Given the description of an element on the screen output the (x, y) to click on. 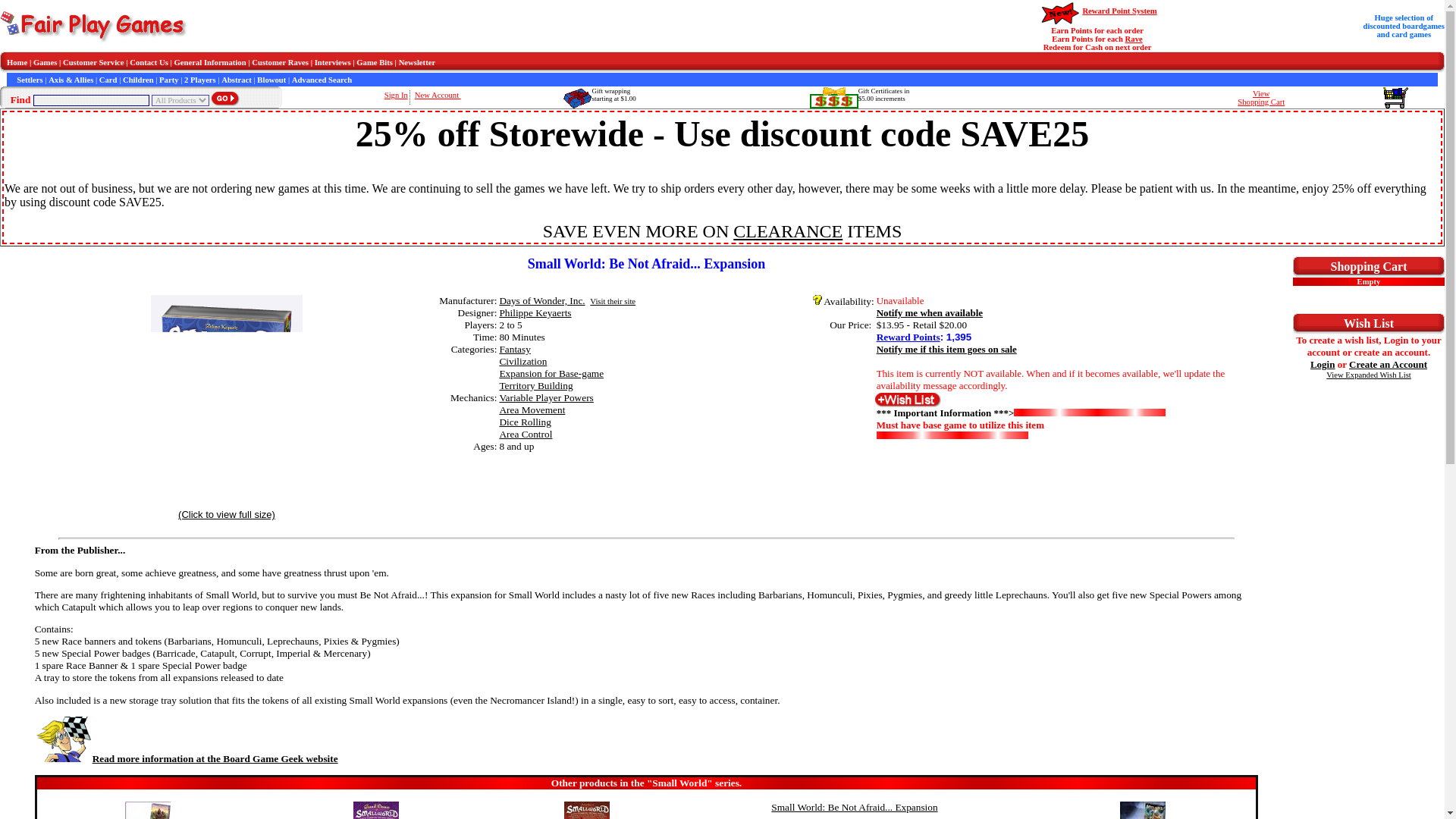
Advanced Search (322, 80)
Customer Service (92, 61)
CLEARANCE (788, 230)
Abstract (236, 80)
Games (44, 61)
Settlers (29, 80)
Interviews (332, 61)
2 Players (199, 80)
Card (1260, 97)
